Given the description of an element on the screen output the (x, y) to click on. 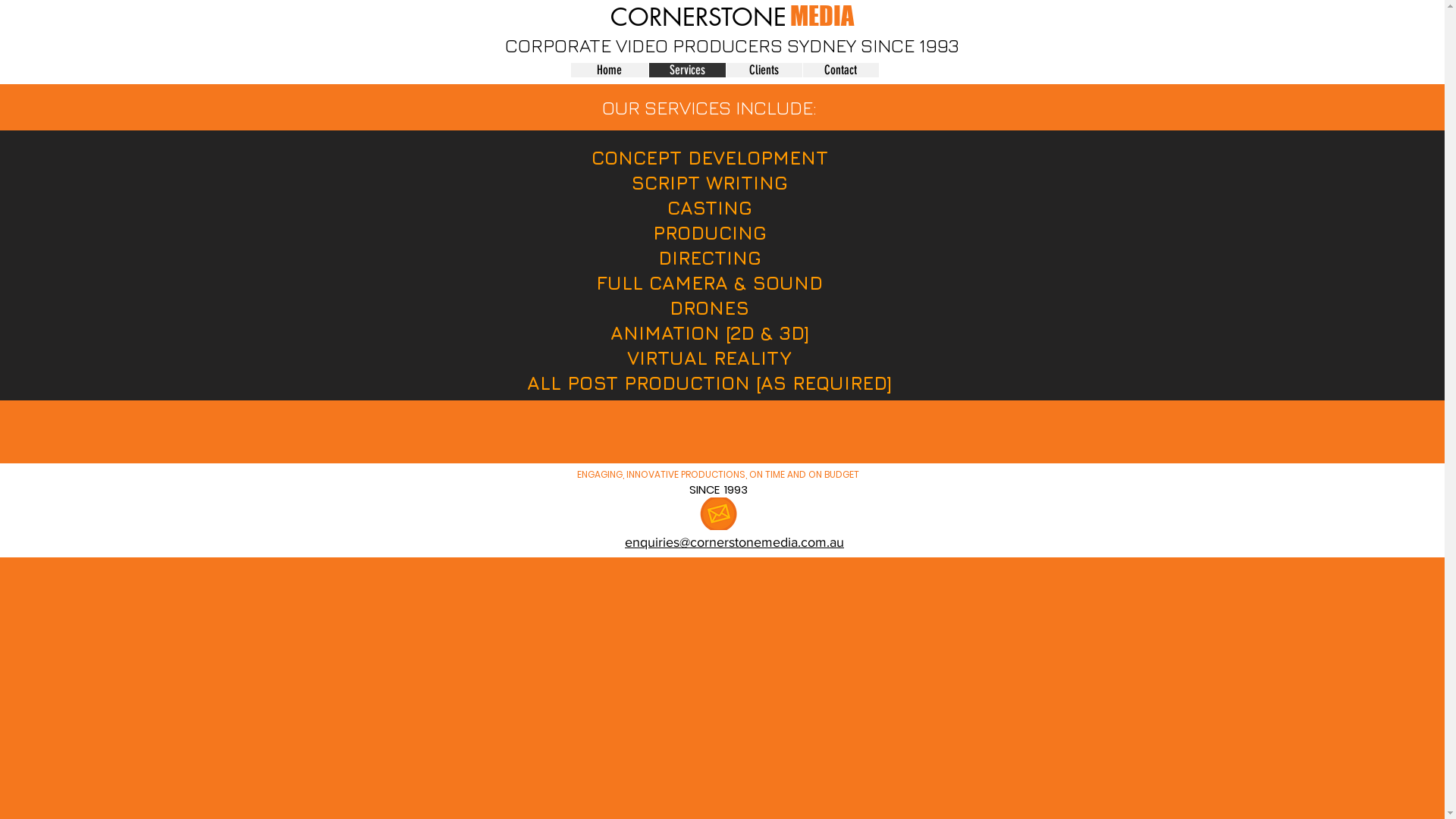
Home Element type: text (608, 69)
Contact Element type: text (840, 69)
  Element type: text (788, 19)
enquiries@cornerstonemedia.com.au Element type: text (734, 541)
Services Element type: text (685, 69)
CORNERSTONE Element type: text (698, 19)
MEDIA Element type: text (821, 19)
ENGAGING, INNOVATIVE PRODUCTIONS,  Element type: text (663, 473)
Clients Element type: text (762, 69)
